Given the description of an element on the screen output the (x, y) to click on. 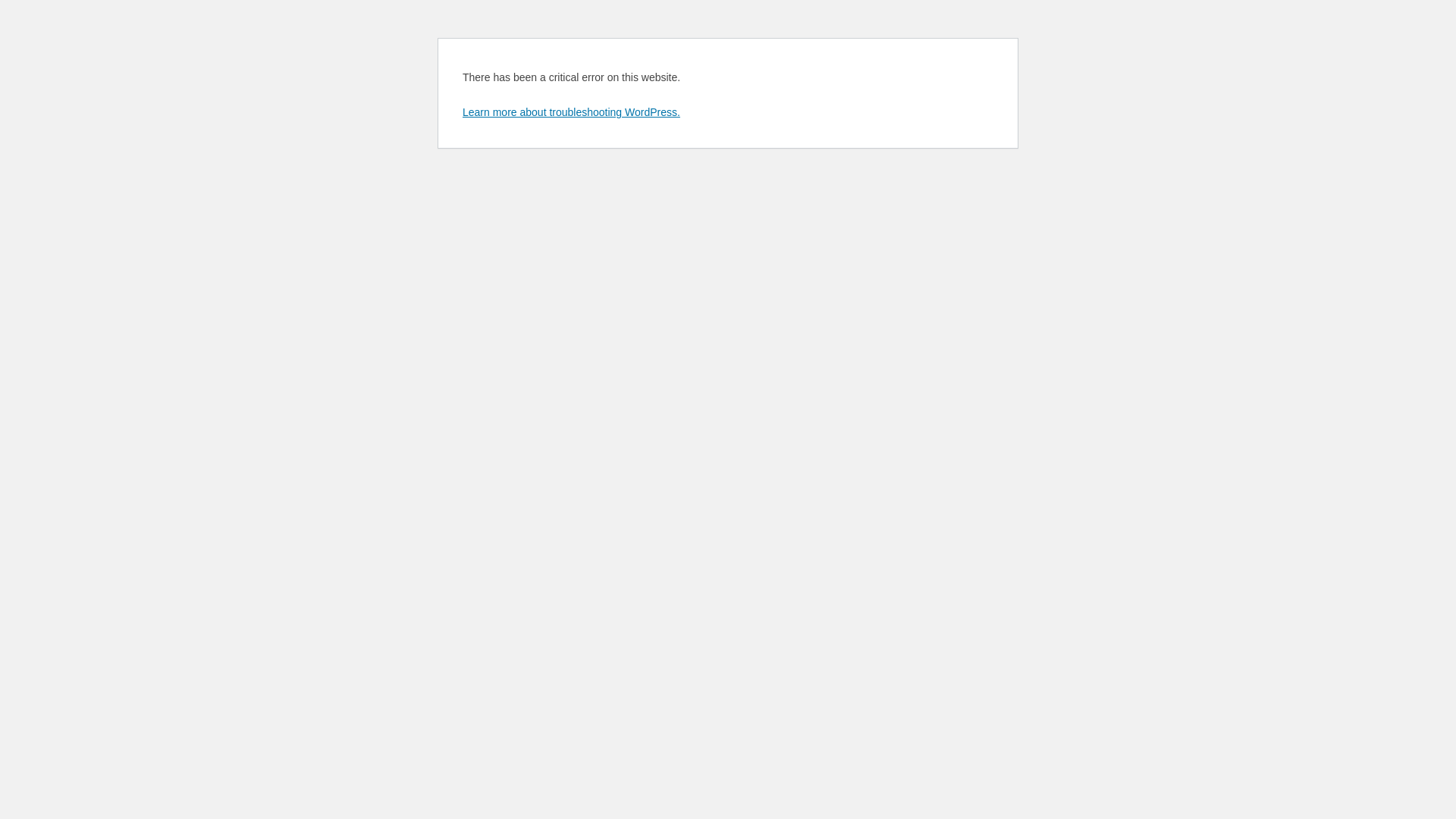
Learn more about troubleshooting WordPress. Element type: text (571, 112)
